Given the description of an element on the screen output the (x, y) to click on. 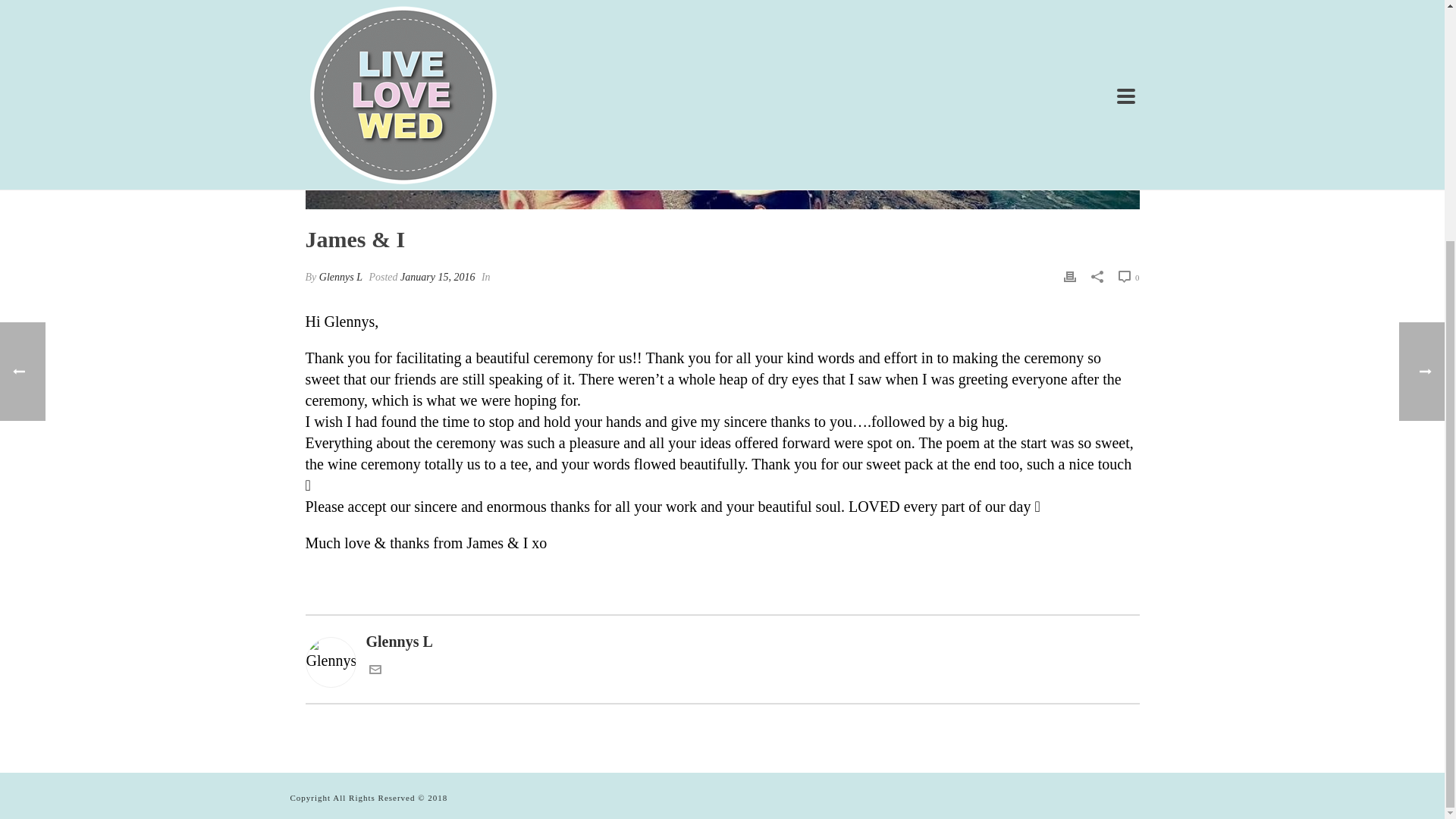
January 15, 2016 (437, 276)
Posts by Glennys L (340, 276)
Glennys L (721, 640)
Glennys L (340, 276)
